Given the description of an element on the screen output the (x, y) to click on. 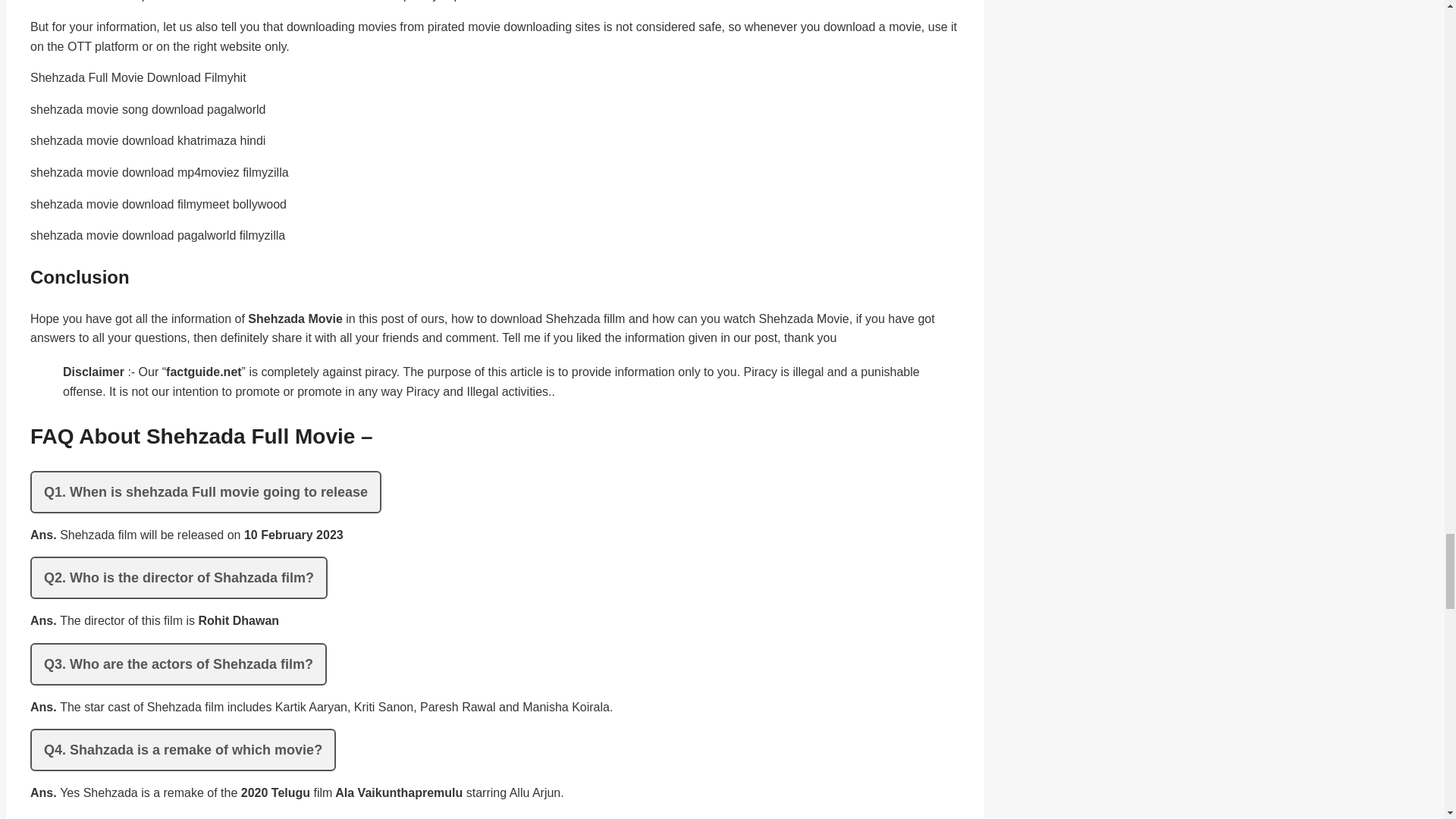
Q4. Shahzada is a remake of which movie? (183, 749)
Q3. Who are the actors of Shehzada film? (178, 663)
Q1. When is shehzada Full movie going to release (205, 491)
Q2. Who is the director of Shahzada film? (178, 577)
